Given the description of an element on the screen output the (x, y) to click on. 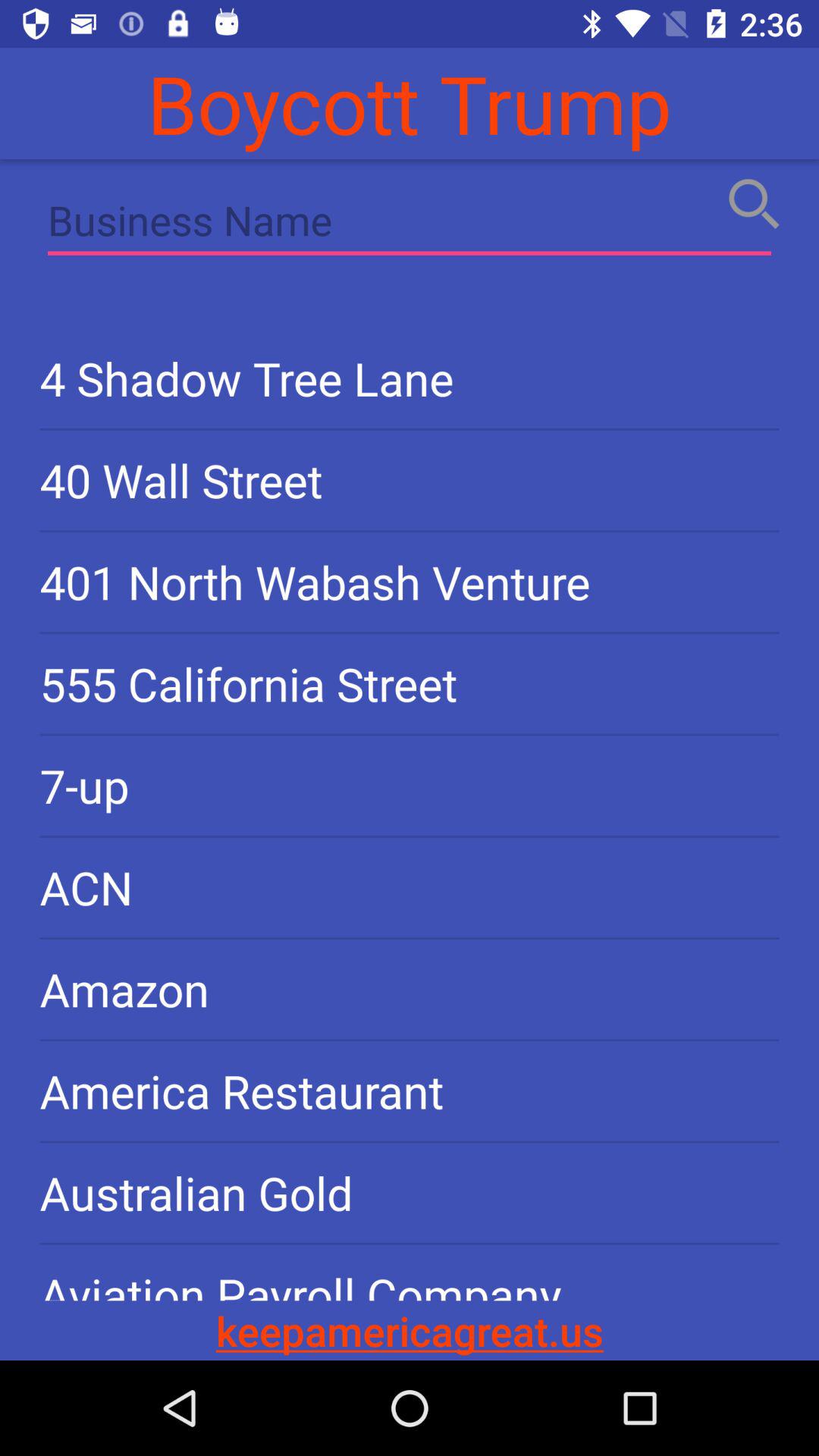
turn on acn icon (409, 887)
